Given the description of an element on the screen output the (x, y) to click on. 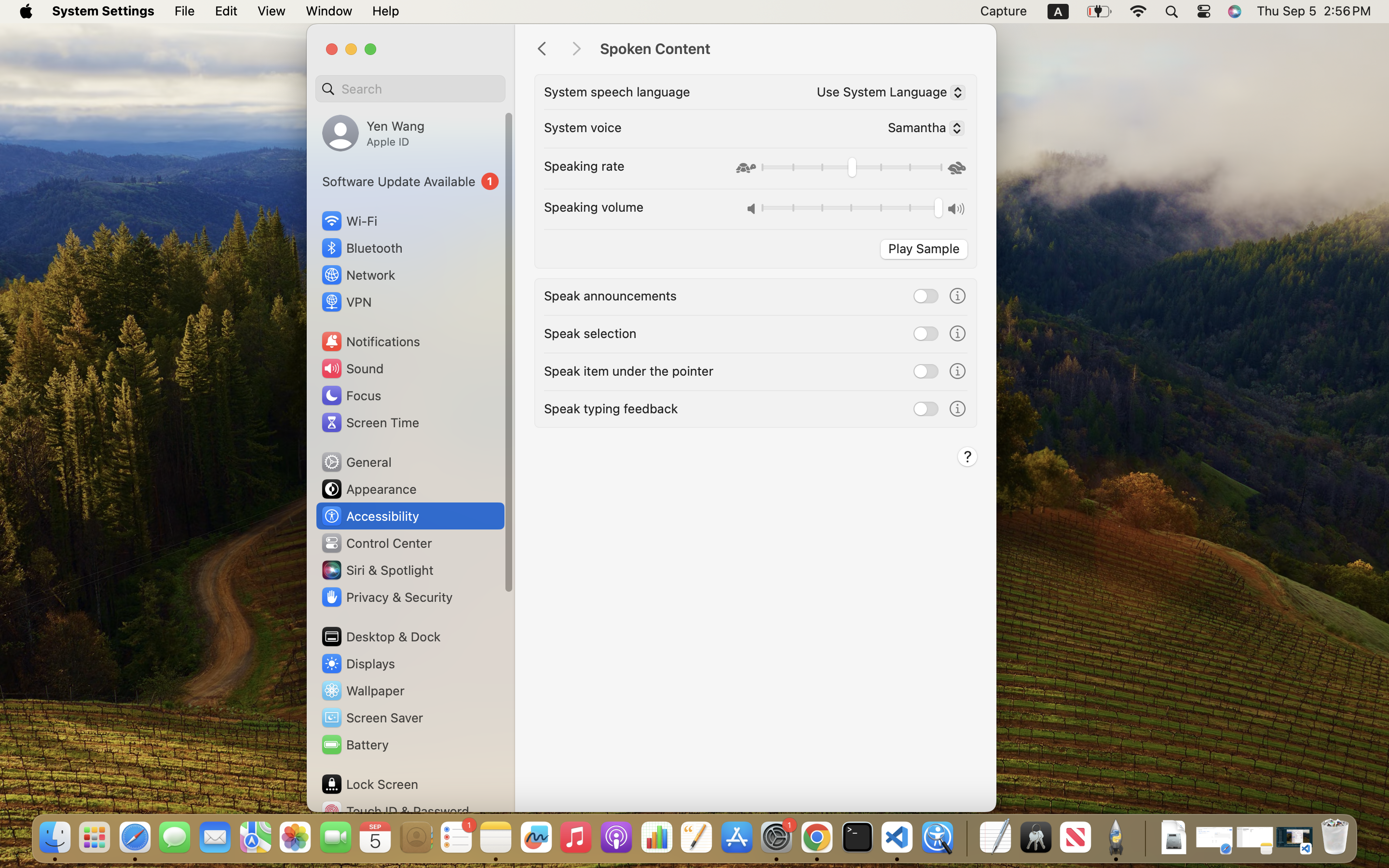
Speak announcements Element type: AXStaticText (610, 294)
Siri & Spotlight Element type: AXStaticText (376, 569)
Control Center Element type: AXStaticText (376, 542)
Battery Element type: AXStaticText (354, 744)
Screen Saver Element type: AXStaticText (371, 717)
